Given the description of an element on the screen output the (x, y) to click on. 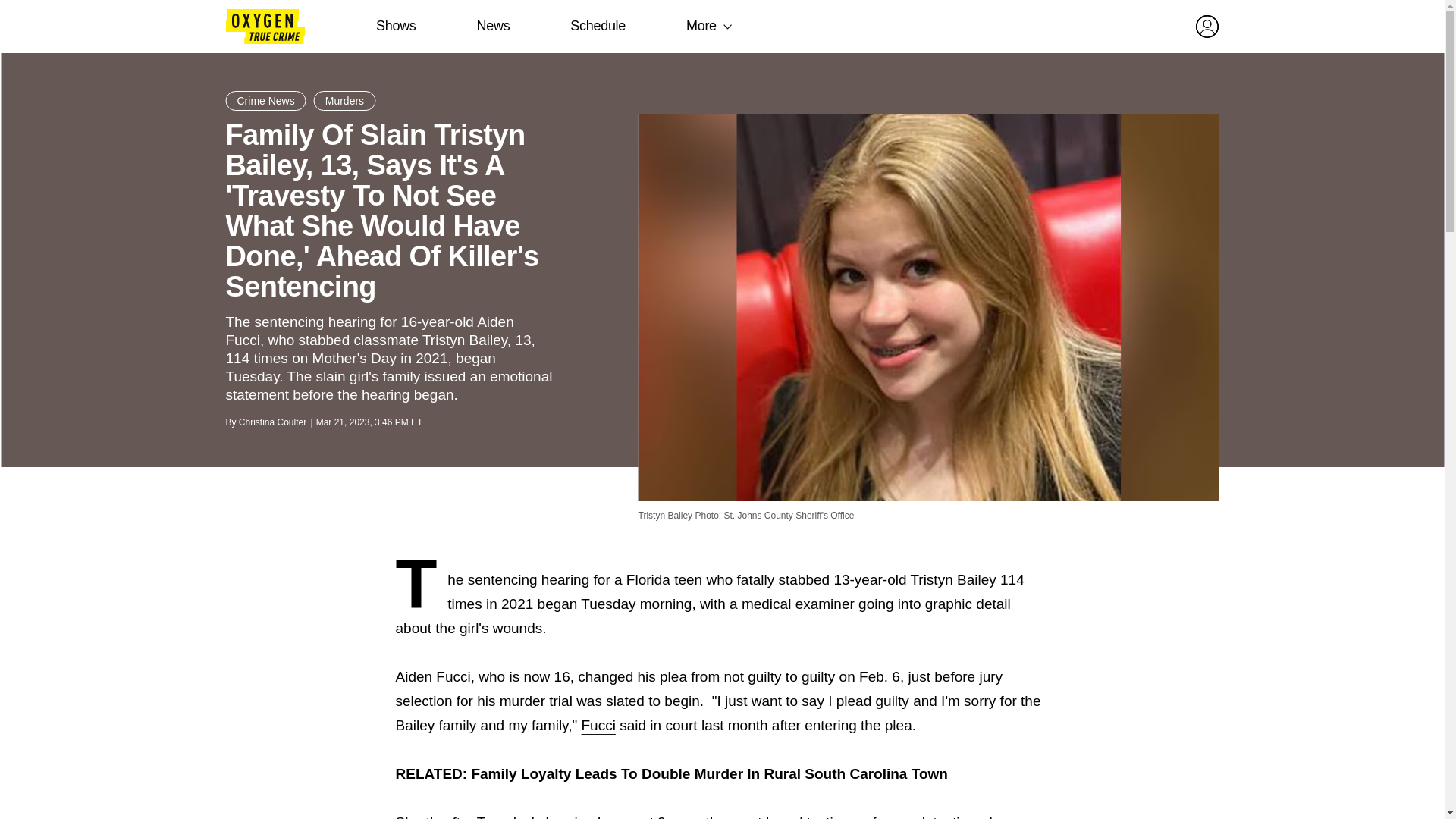
Shows (395, 26)
More (700, 26)
Fucci (597, 725)
changed his plea from not guilty to guilty (706, 676)
Christina Coulter (271, 421)
Murders (344, 100)
Schedule (598, 26)
News (492, 26)
Crime News (265, 100)
